Given the description of an element on the screen output the (x, y) to click on. 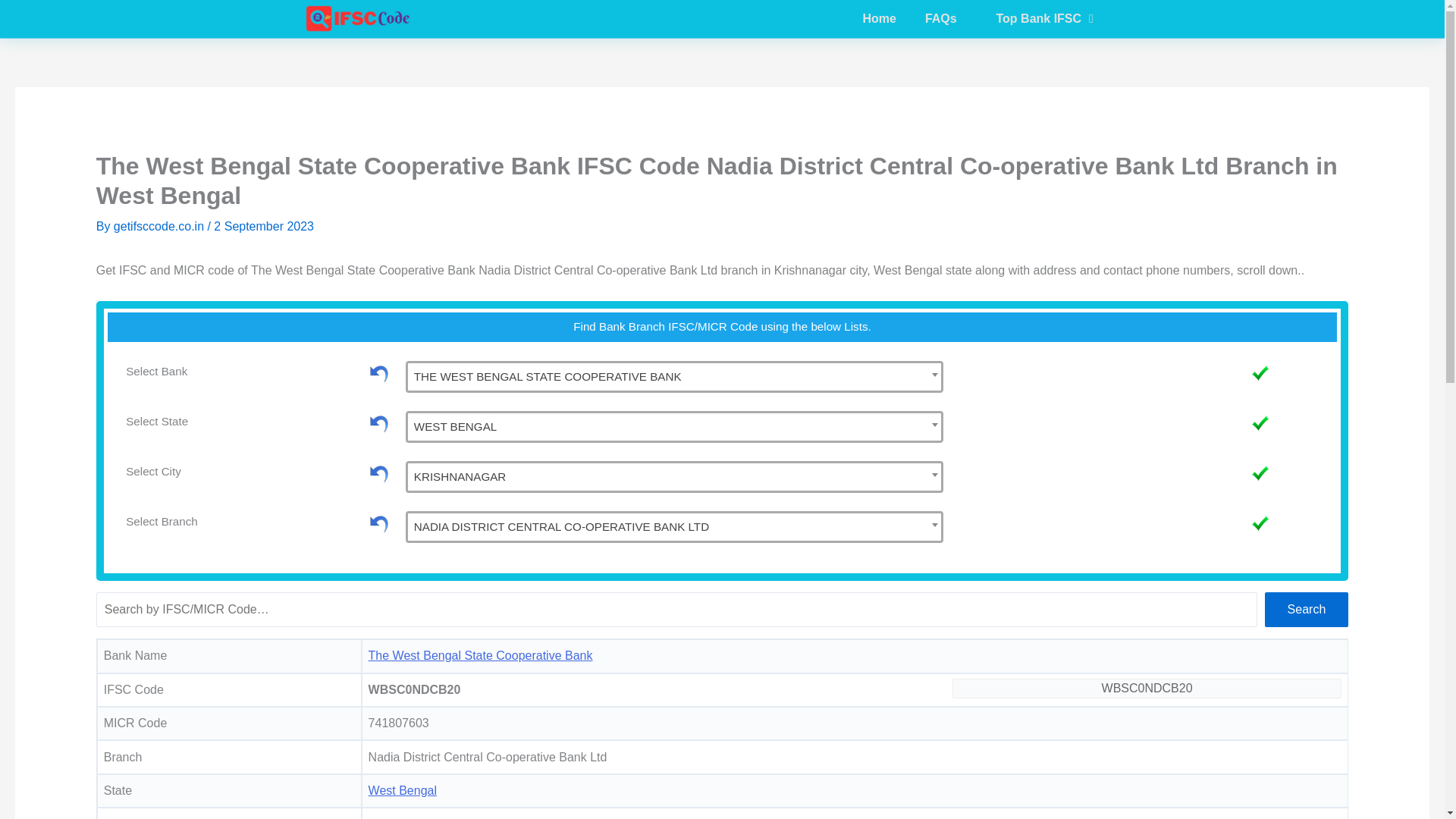
Home (673, 526)
Top Bank IFSC (855, 18)
View all posts by getifsccode.co.in (1044, 18)
FAQs (160, 226)
WBSC0NDCB20 (673, 476)
